Given the description of an element on the screen output the (x, y) to click on. 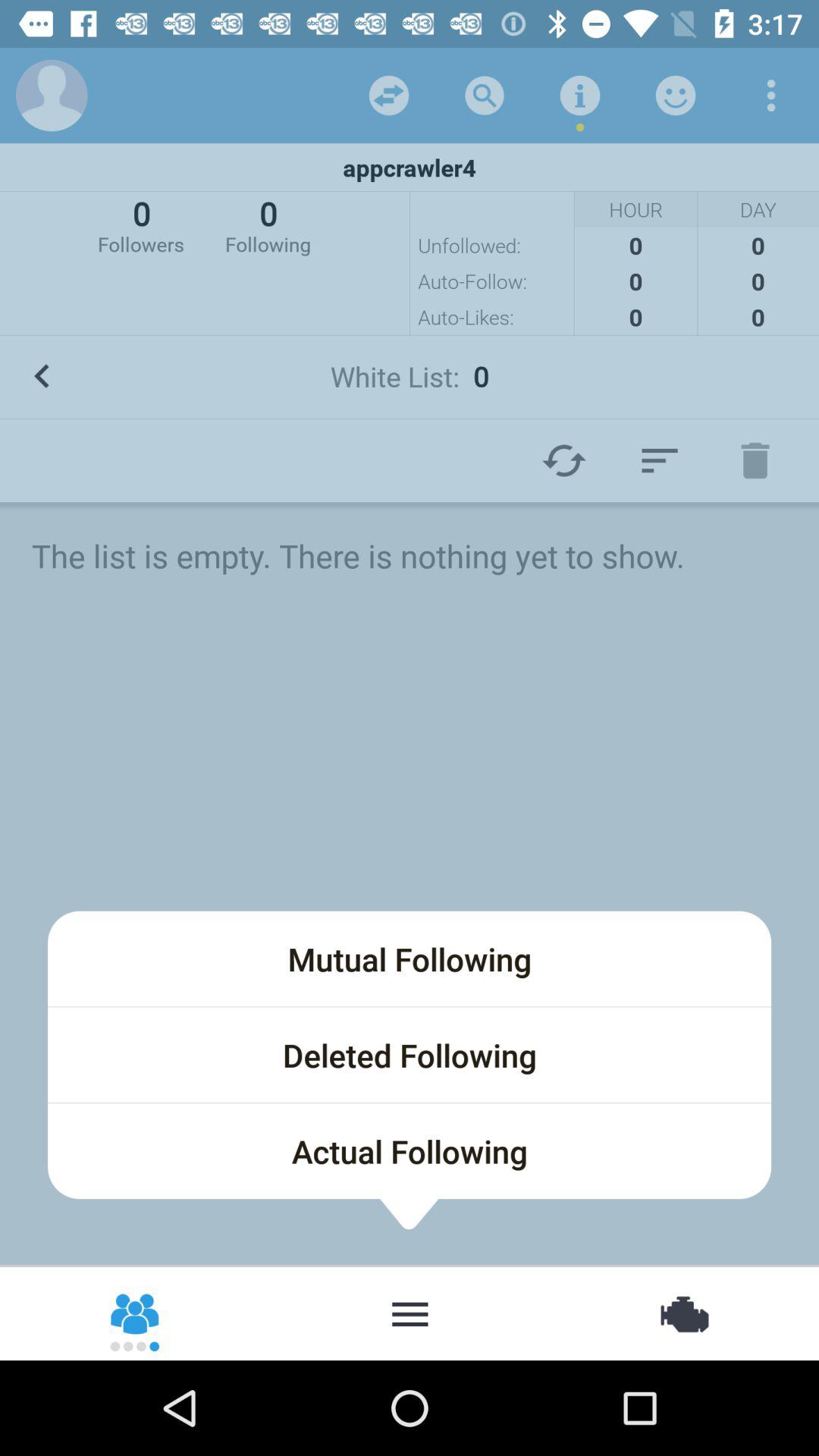
go back options (771, 95)
